Given the description of an element on the screen output the (x, y) to click on. 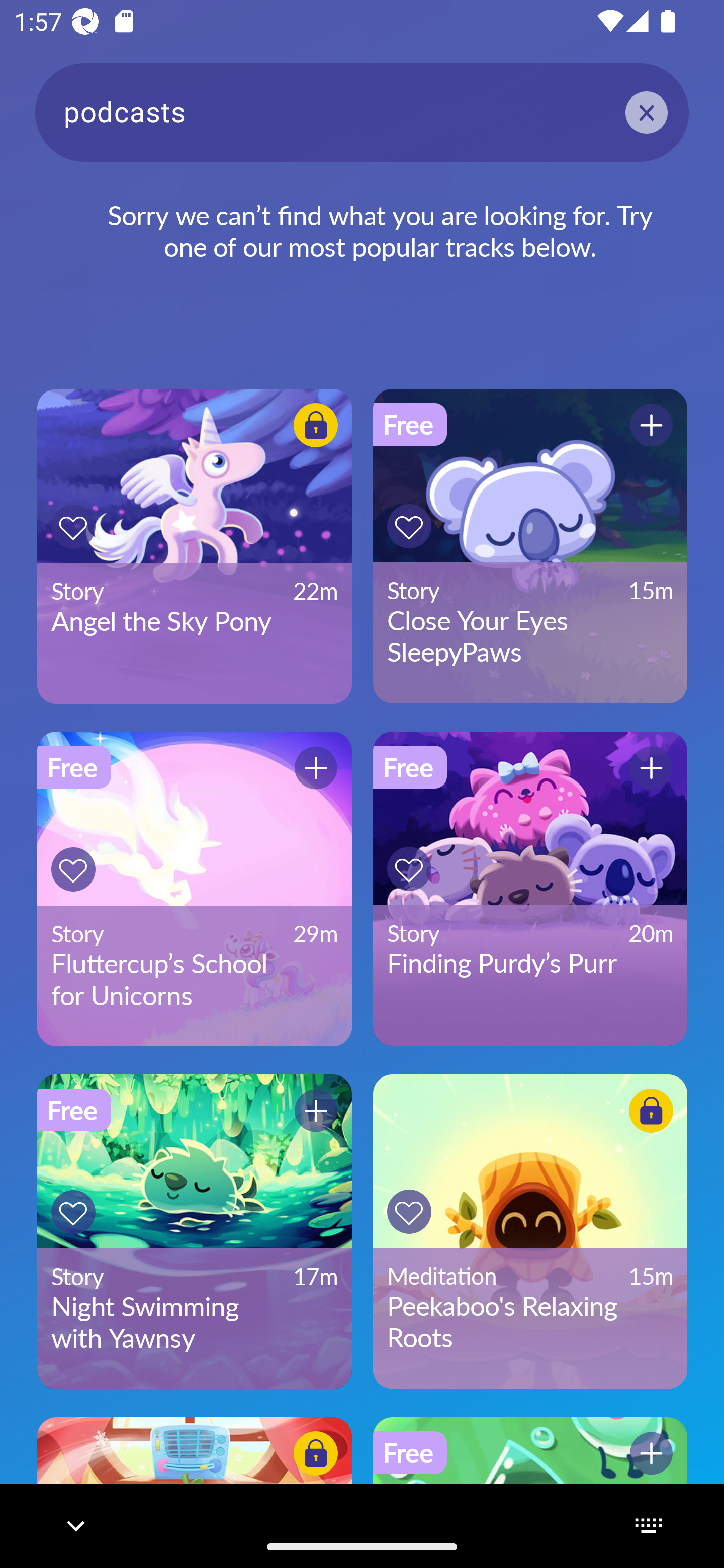
podcasts (361, 111)
Button (315, 424)
Button (650, 424)
Button (409, 525)
Button (73, 526)
Button (315, 767)
Button (650, 767)
Button (409, 868)
Button (73, 869)
Button (315, 1109)
Button (650, 1109)
Button (409, 1211)
Button (73, 1211)
Button (315, 1453)
Button (650, 1453)
